Given the description of an element on the screen output the (x, y) to click on. 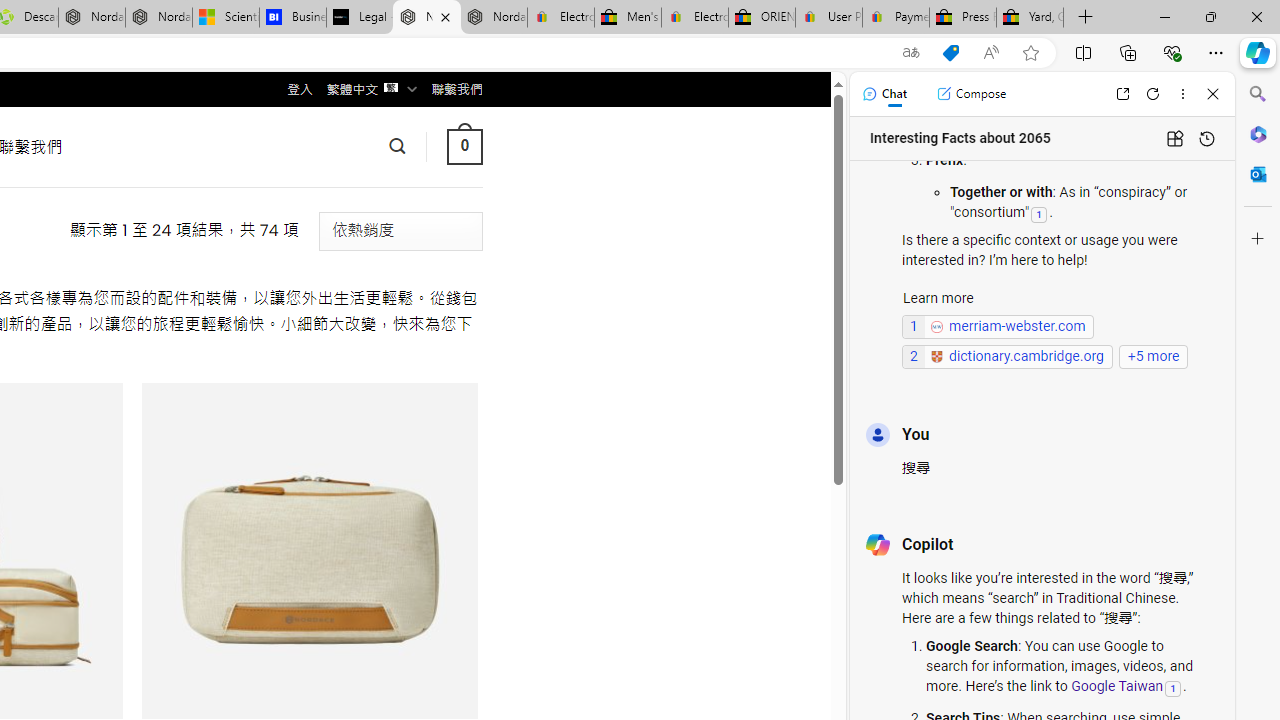
Customize (1258, 239)
Show translate options (910, 53)
Yard, Garden & Outdoor Living (1030, 17)
Outlook (1258, 174)
